Given the description of an element on the screen output the (x, y) to click on. 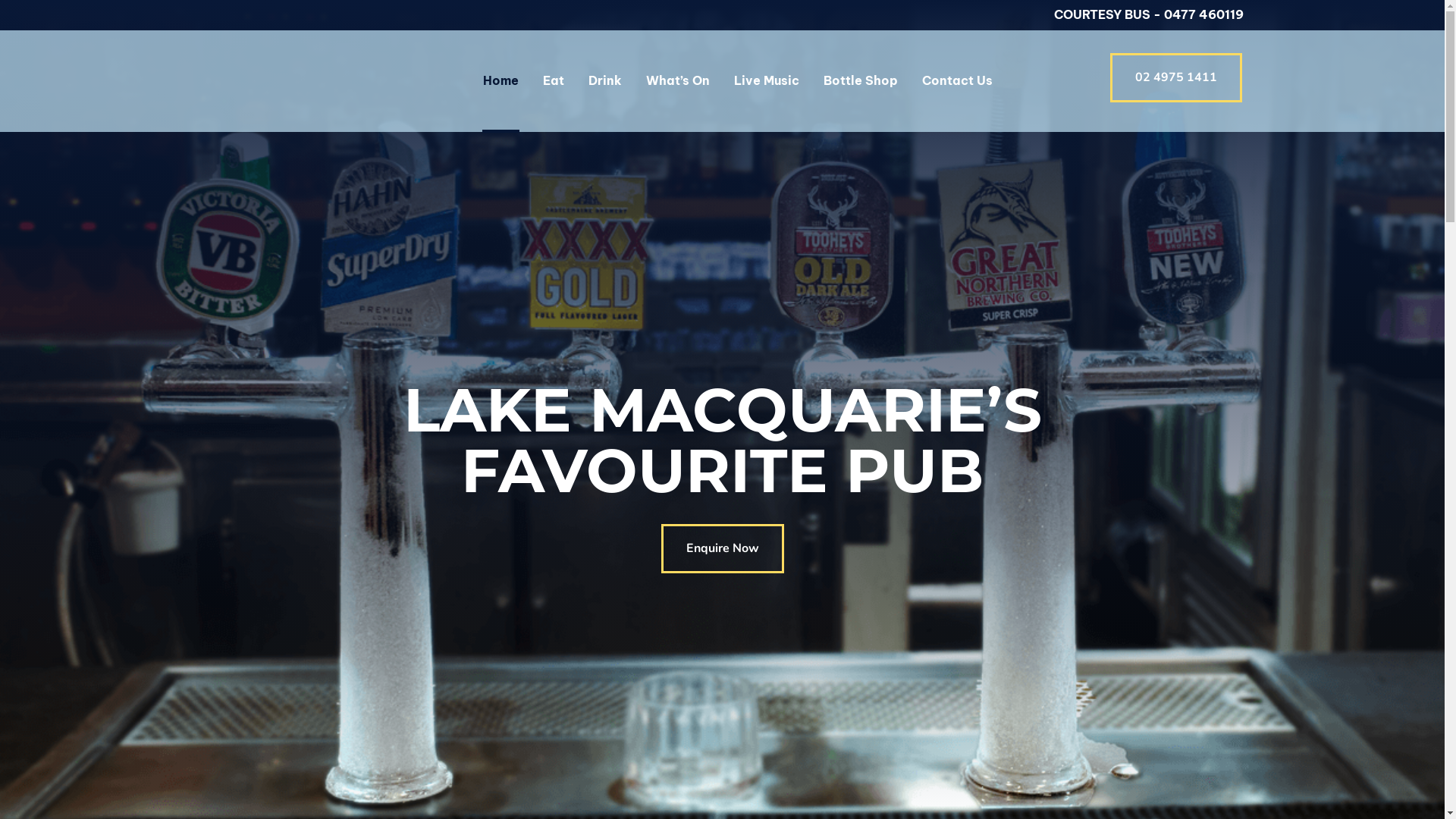
Eat Element type: text (553, 79)
02 4975 1411 Element type: text (1176, 77)
COURTESY BUS - 0477 460119 Element type: text (1148, 13)
Enquire Now Element type: text (722, 548)
Bottle Shop Element type: text (860, 79)
Live Music Element type: text (766, 79)
Contact Us Element type: text (957, 79)
Home Element type: text (499, 79)
Drink Element type: text (604, 79)
